Given the description of an element on the screen output the (x, y) to click on. 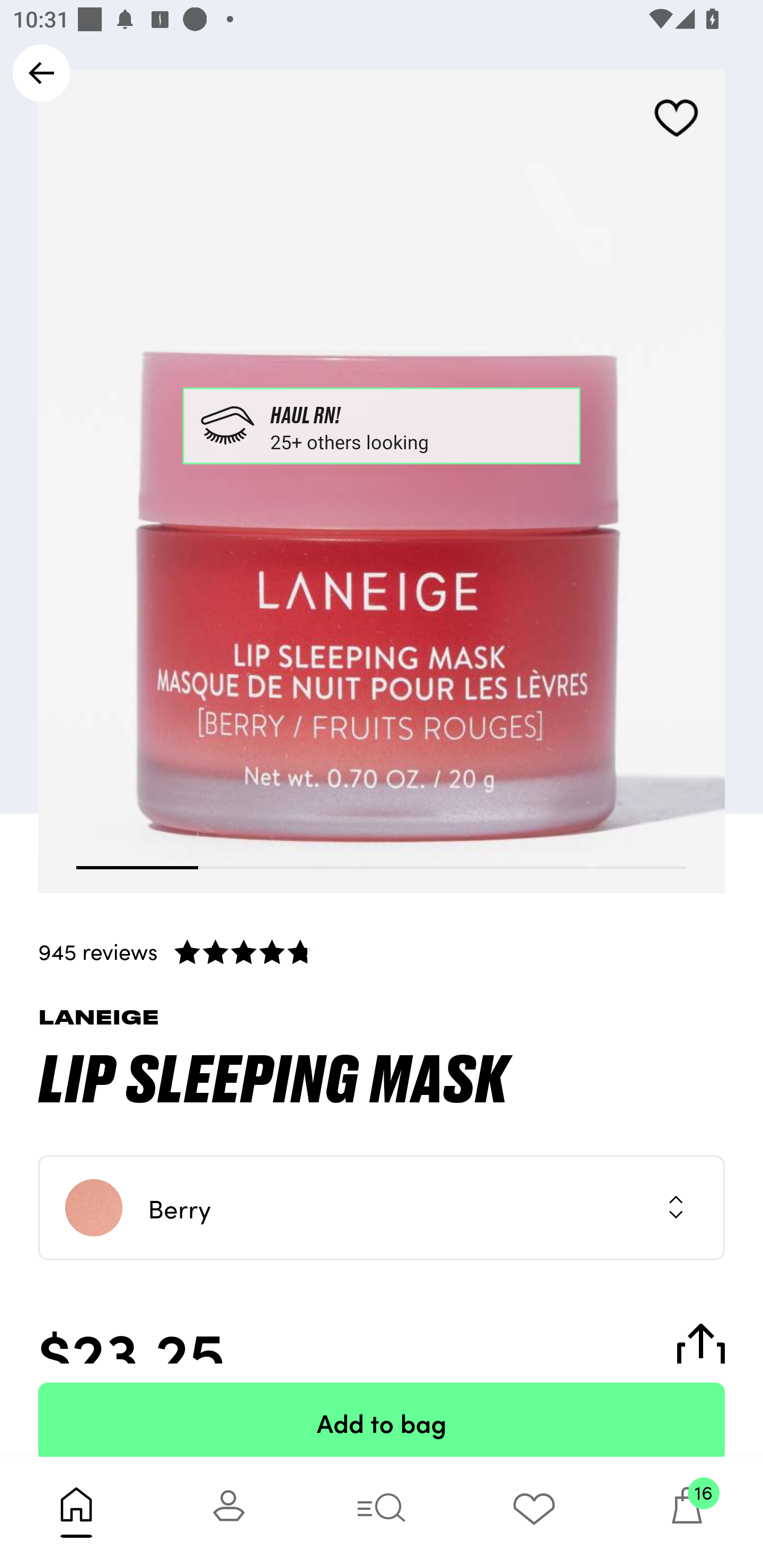
945 reviews (381, 950)
Berry  (381, 1207)
Add to bag (381, 1419)
16 (686, 1512)
